Given the description of an element on the screen output the (x, y) to click on. 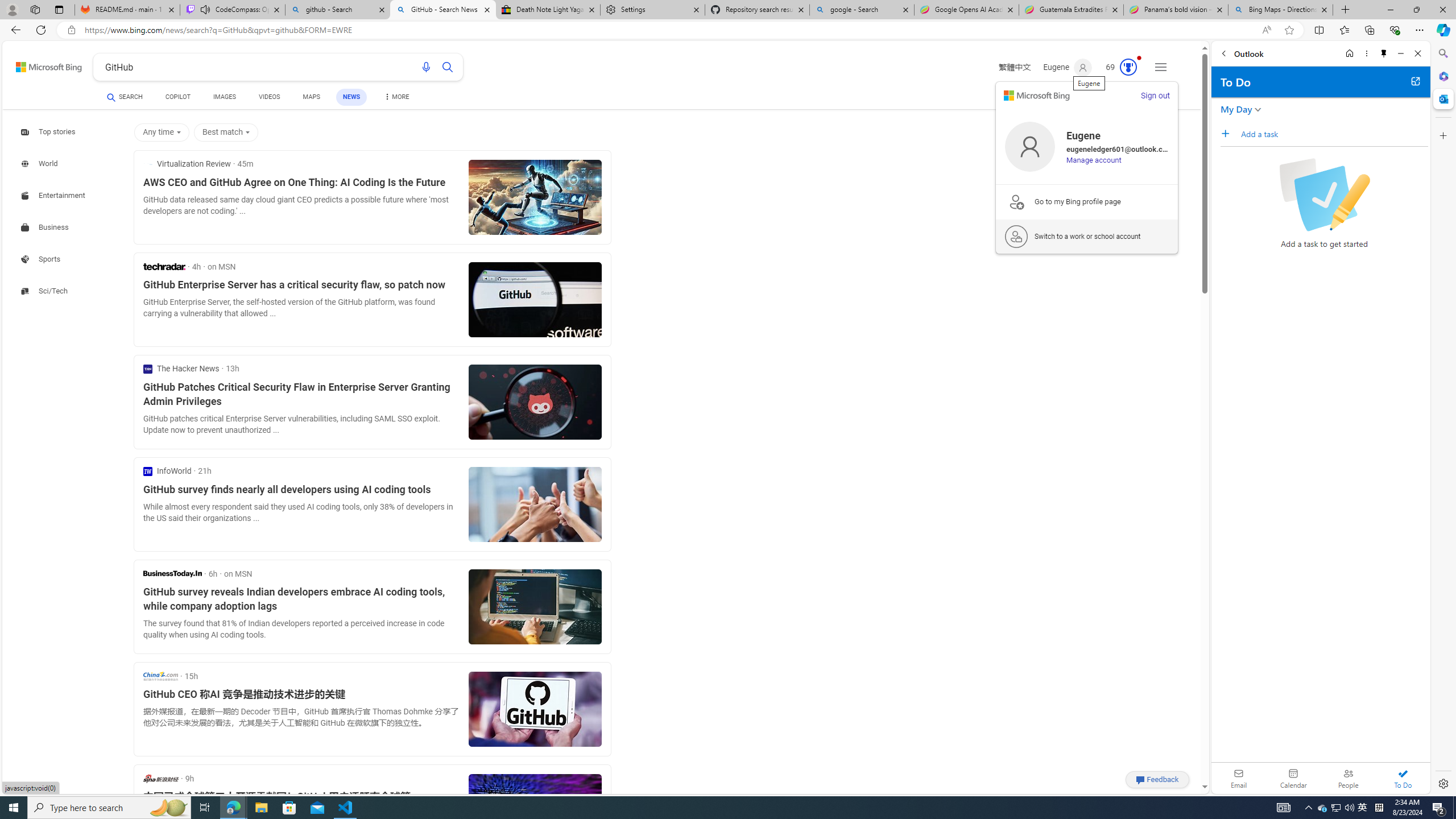
MAPS (311, 96)
Mute tab (204, 8)
work signin (1015, 236)
Search news about World (40, 163)
